Given the description of an element on the screen output the (x, y) to click on. 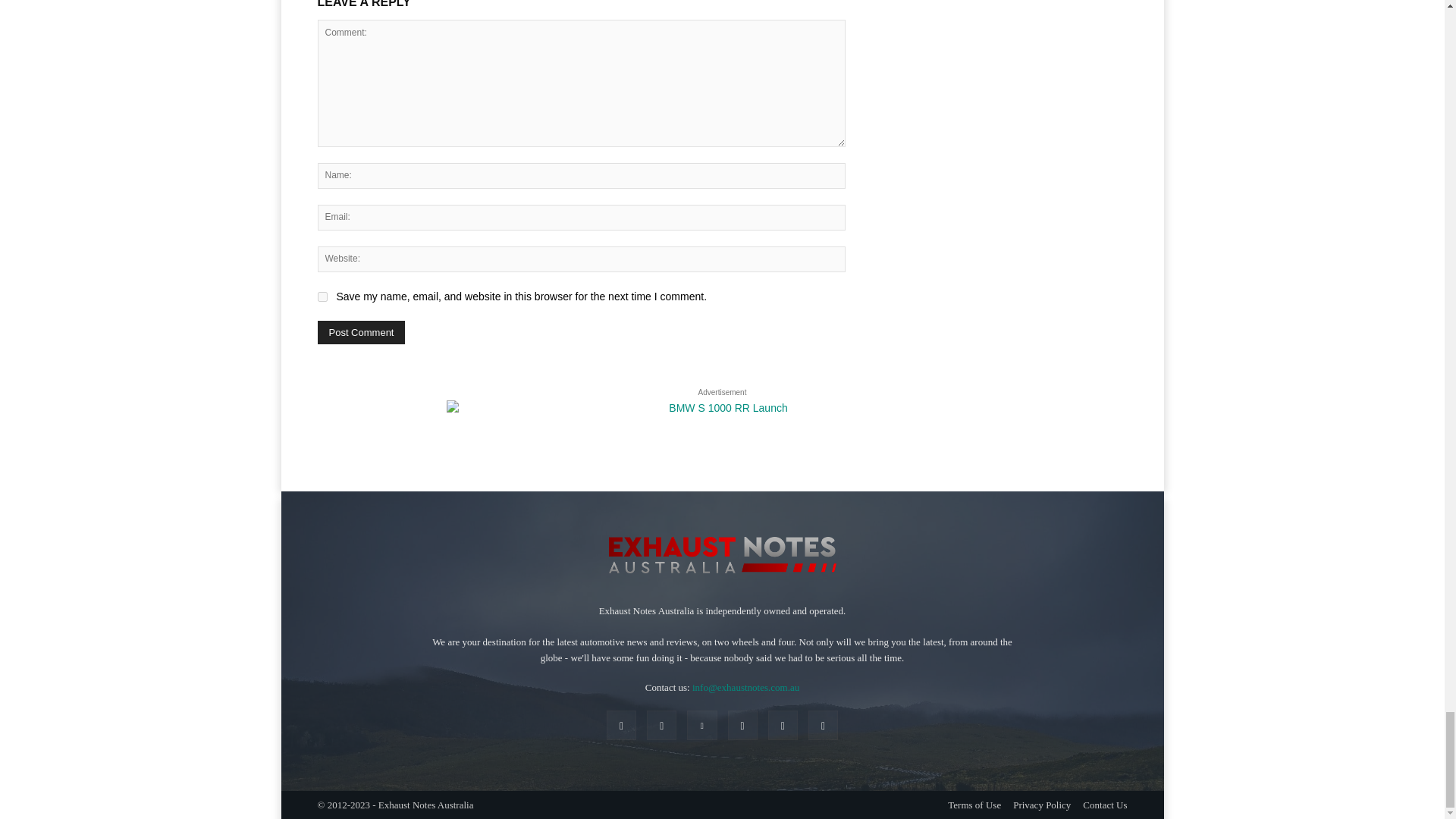
Post Comment (360, 332)
yes (321, 296)
